Given the description of an element on the screen output the (x, y) to click on. 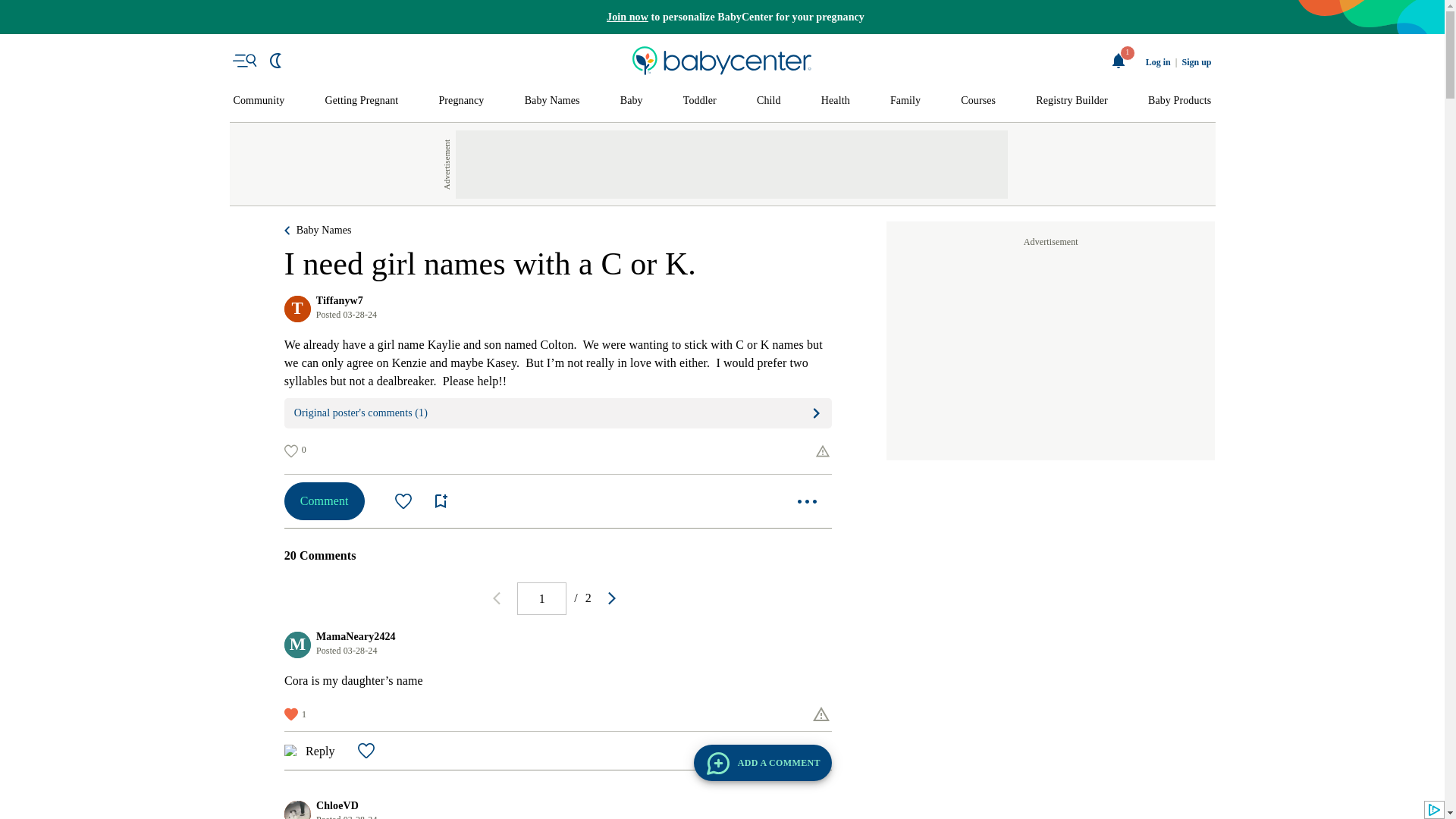
Baby Names (551, 101)
1 (1118, 60)
Courses (977, 101)
Sign up (1195, 61)
Go to page number (541, 598)
Baby Products (1179, 101)
Registry Builder (1071, 101)
Community (258, 101)
Baby (631, 101)
1 (541, 598)
Child (768, 101)
Toddler (699, 101)
Family (904, 101)
Getting Pregnant (360, 101)
Pregnancy (460, 101)
